Given the description of an element on the screen output the (x, y) to click on. 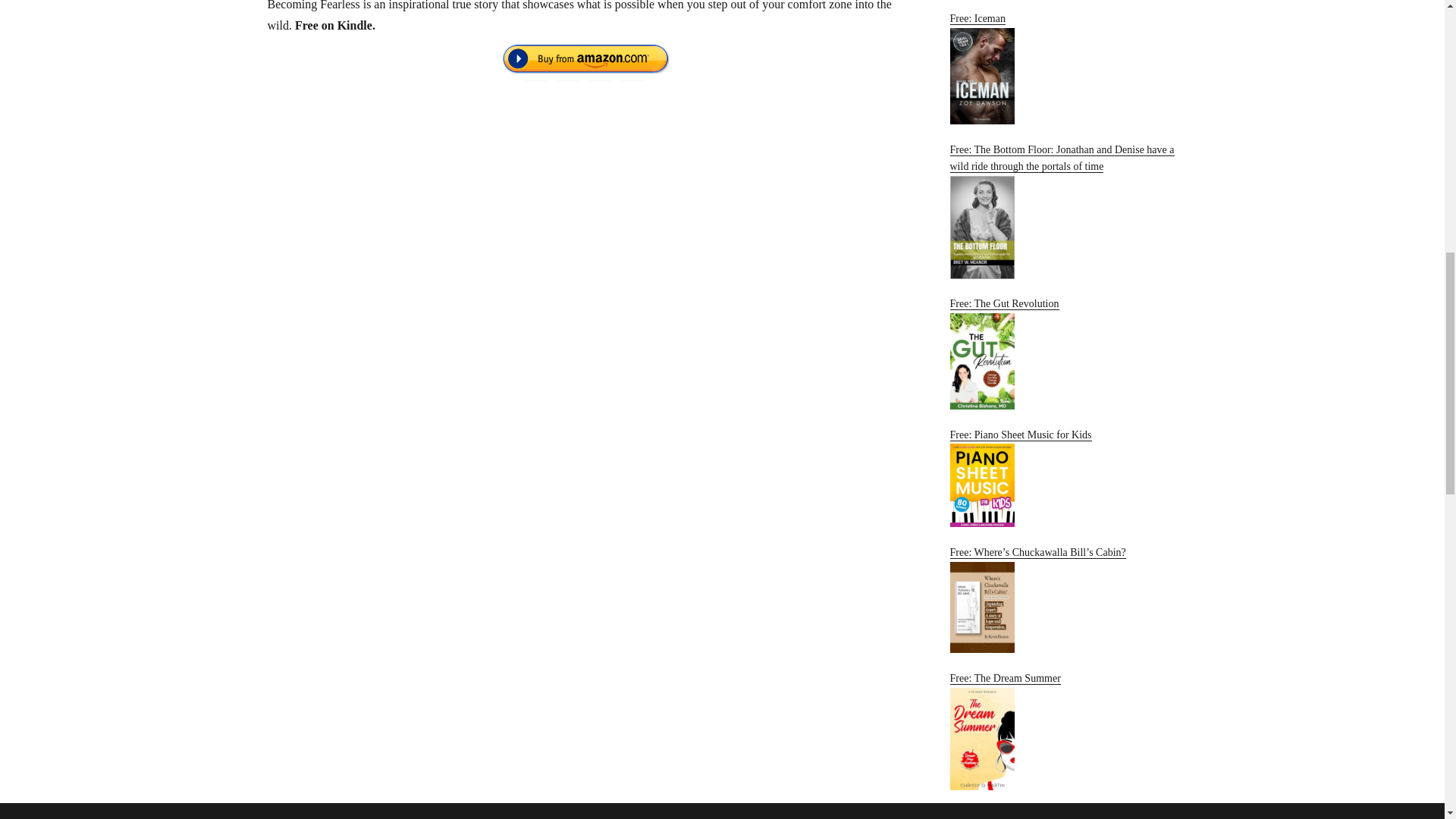
Free: Piano Sheet Music for Kids (1062, 478)
Free: Iceman (1062, 68)
Free: The Dream Summer (1062, 731)
Free: The Gut Revolution (1062, 353)
